Given the description of an element on the screen output the (x, y) to click on. 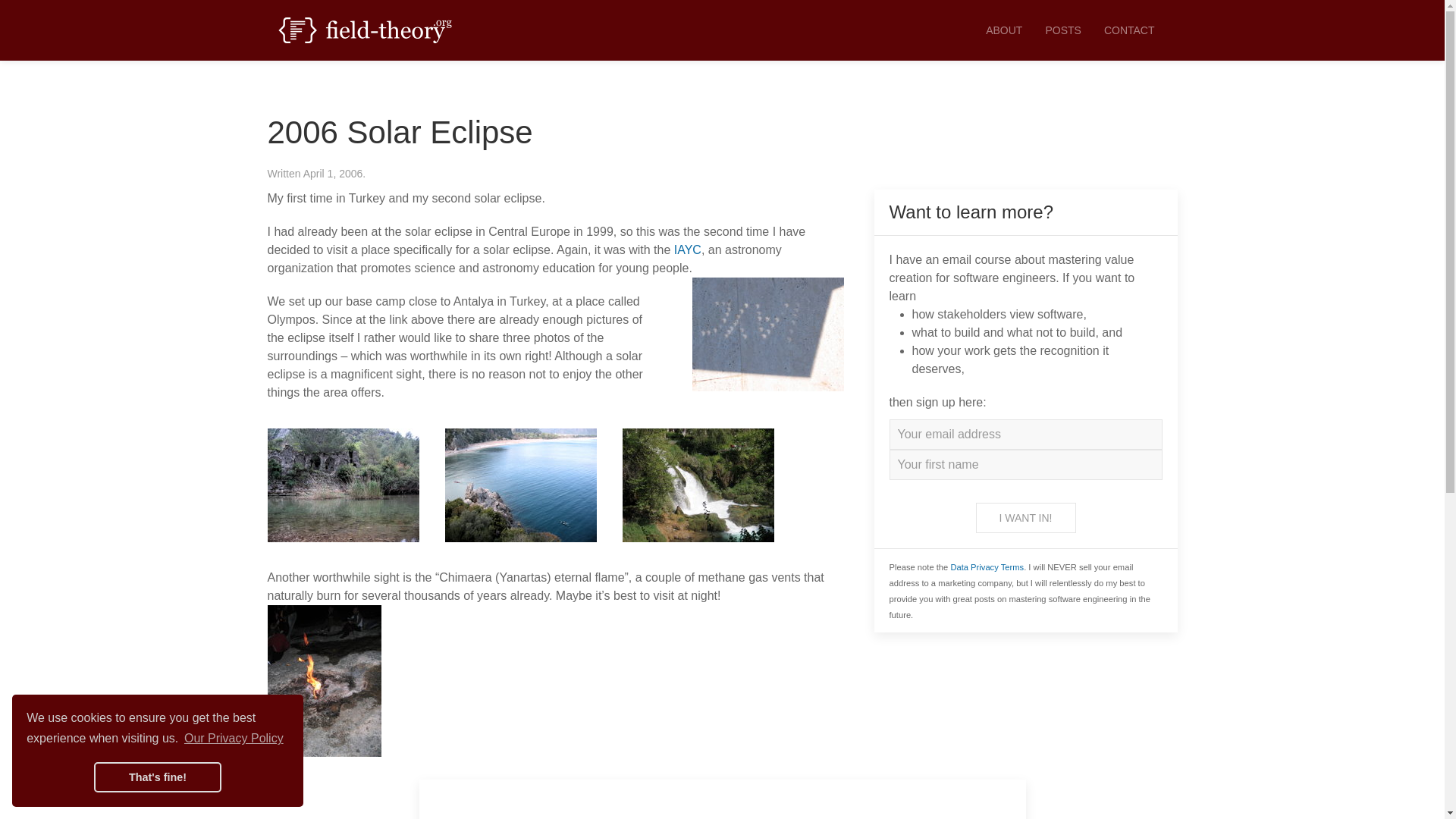
IAYC (687, 249)
Data Privacy Terms (986, 566)
I WANT IN! (1025, 517)
That's fine! (157, 777)
Our Privacy Policy (233, 738)
